Given the description of an element on the screen output the (x, y) to click on. 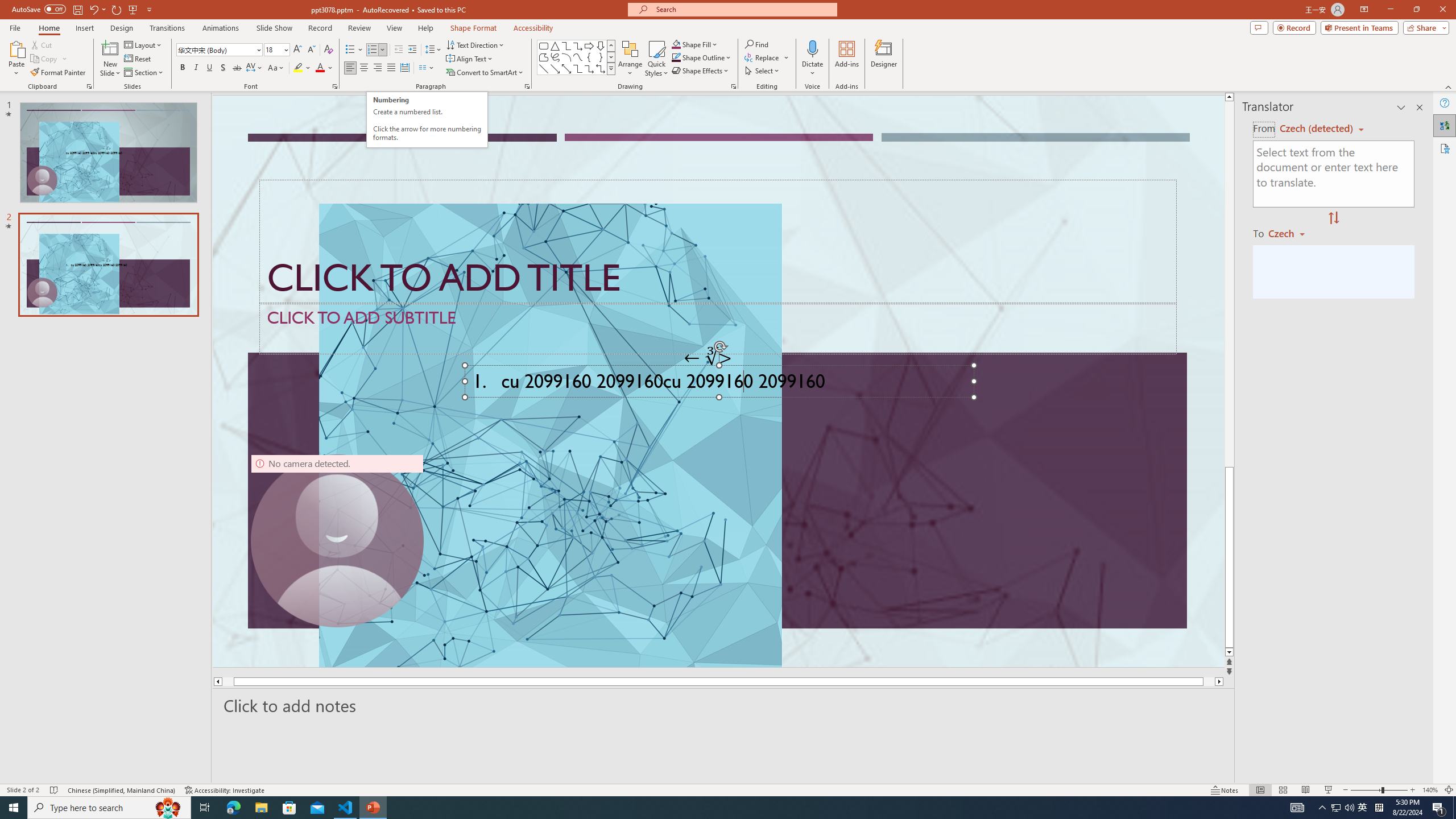
Font Color Red (320, 67)
Shape Fill (694, 44)
Swap "from" and "to" languages. (1333, 218)
